Given the description of an element on the screen output the (x, y) to click on. 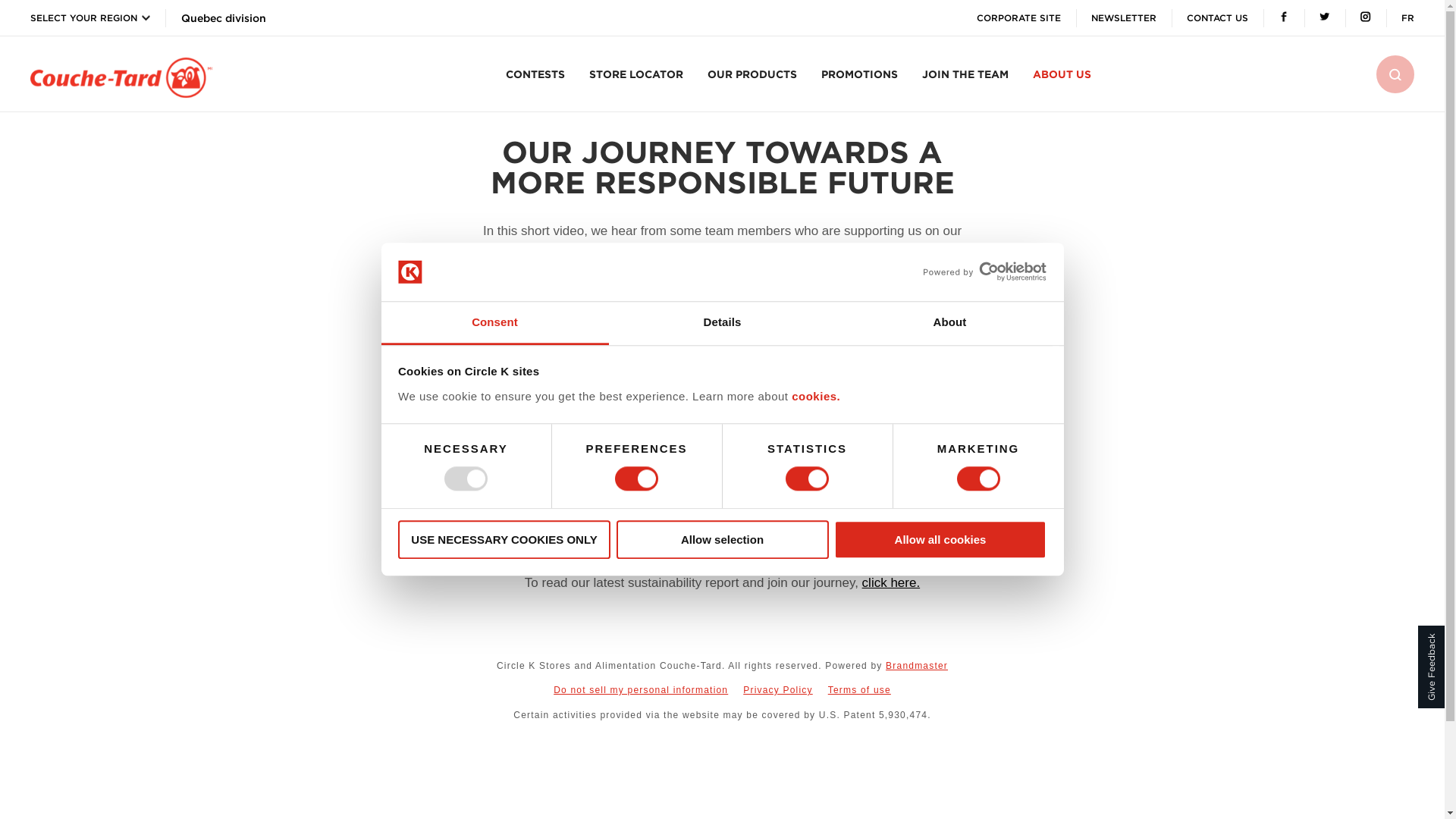
Details (721, 323)
cookies. (816, 395)
About (948, 323)
Consent (494, 323)
